Given the description of an element on the screen output the (x, y) to click on. 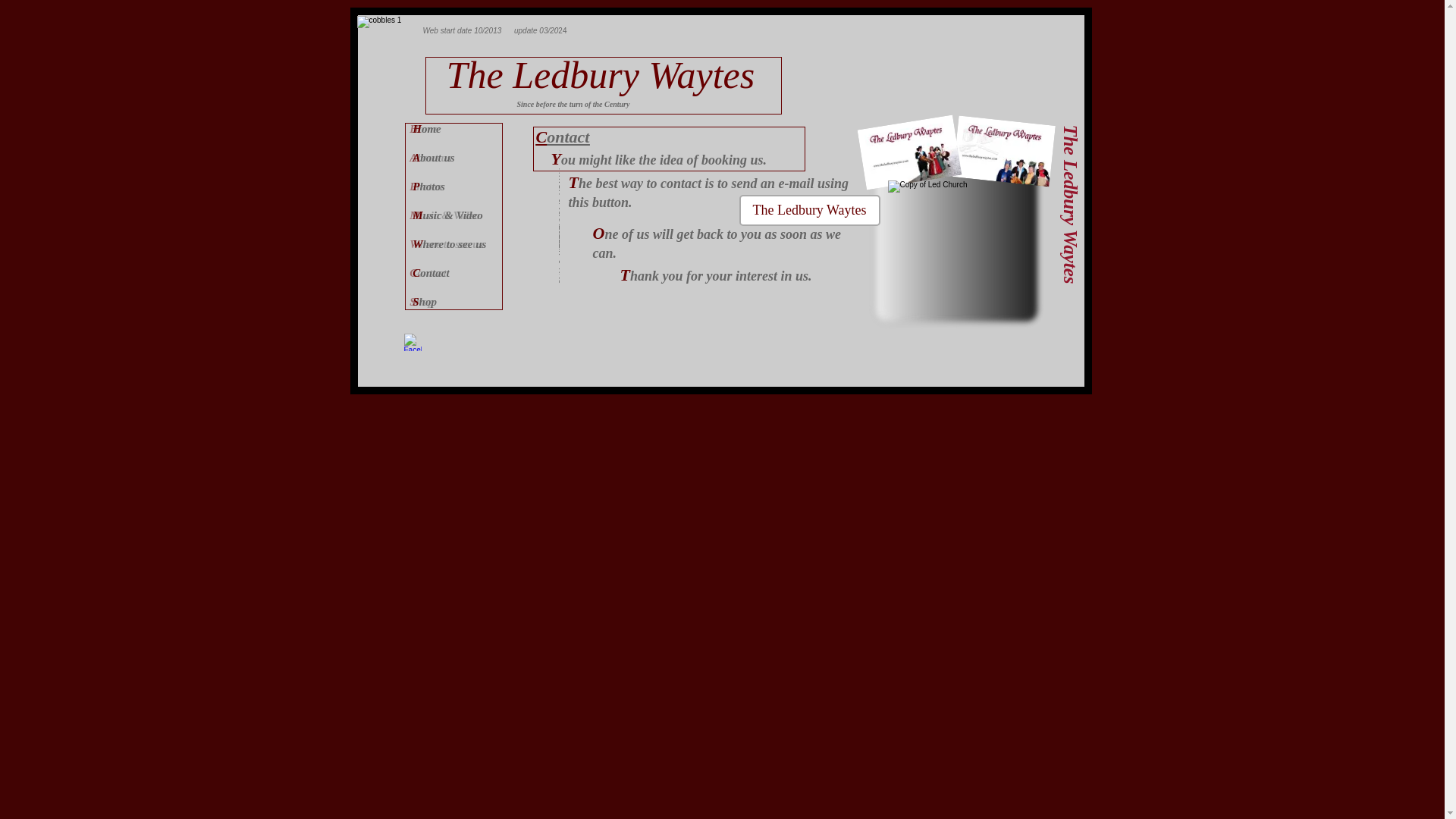
ontact (430, 272)
The Ledbury Waytes (808, 210)
hotos (431, 186)
ome (428, 128)
hop (424, 301)
bout us (433, 157)
bout us (437, 157)
hotos (428, 186)
ontact (434, 272)
here to see us (454, 244)
here to see us (451, 244)
ome (431, 128)
